Given the description of an element on the screen output the (x, y) to click on. 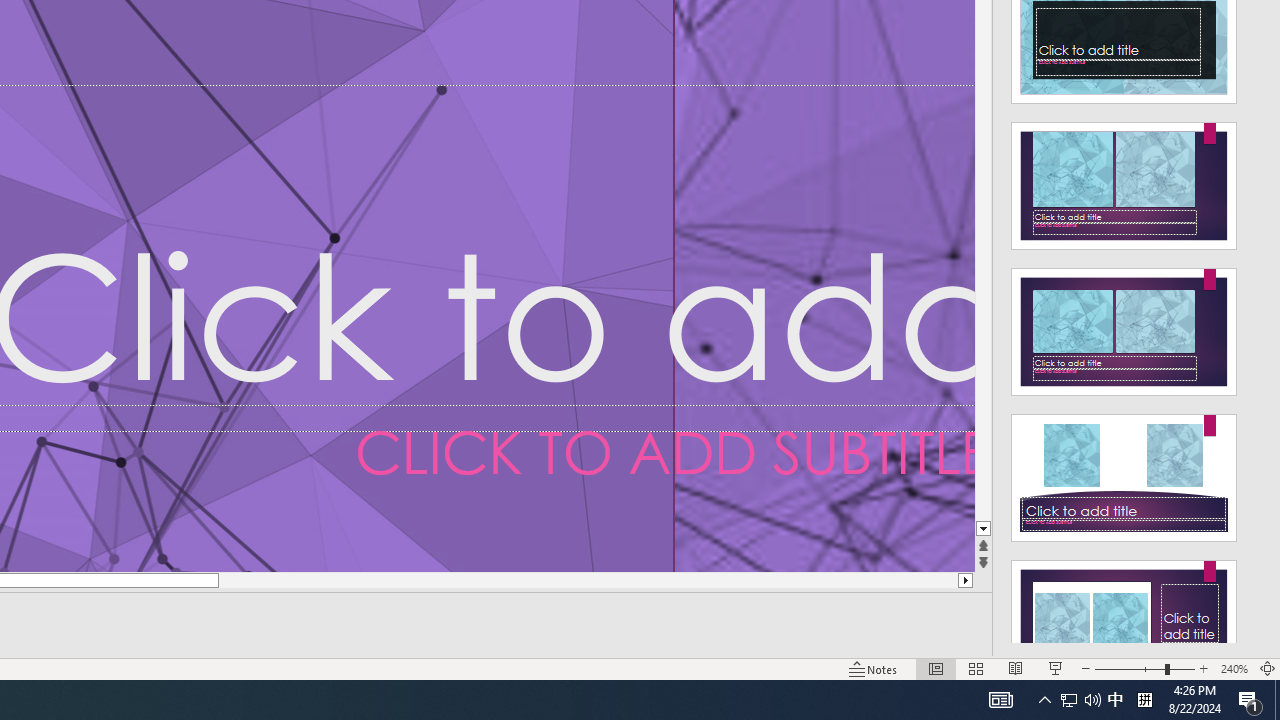
Design Idea (1124, 618)
Zoom 240% (1234, 668)
